Given the description of an element on the screen output the (x, y) to click on. 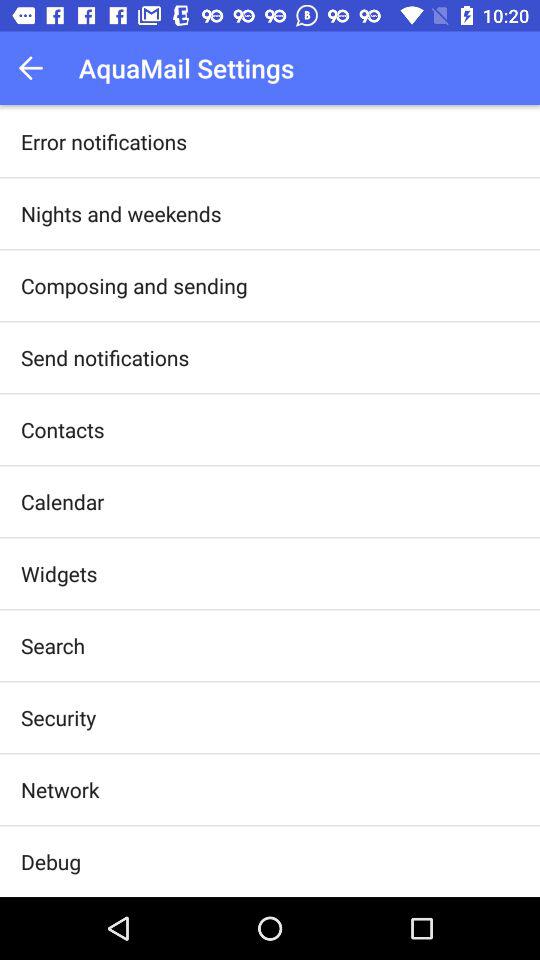
click the icon above the network item (58, 717)
